Given the description of an element on the screen output the (x, y) to click on. 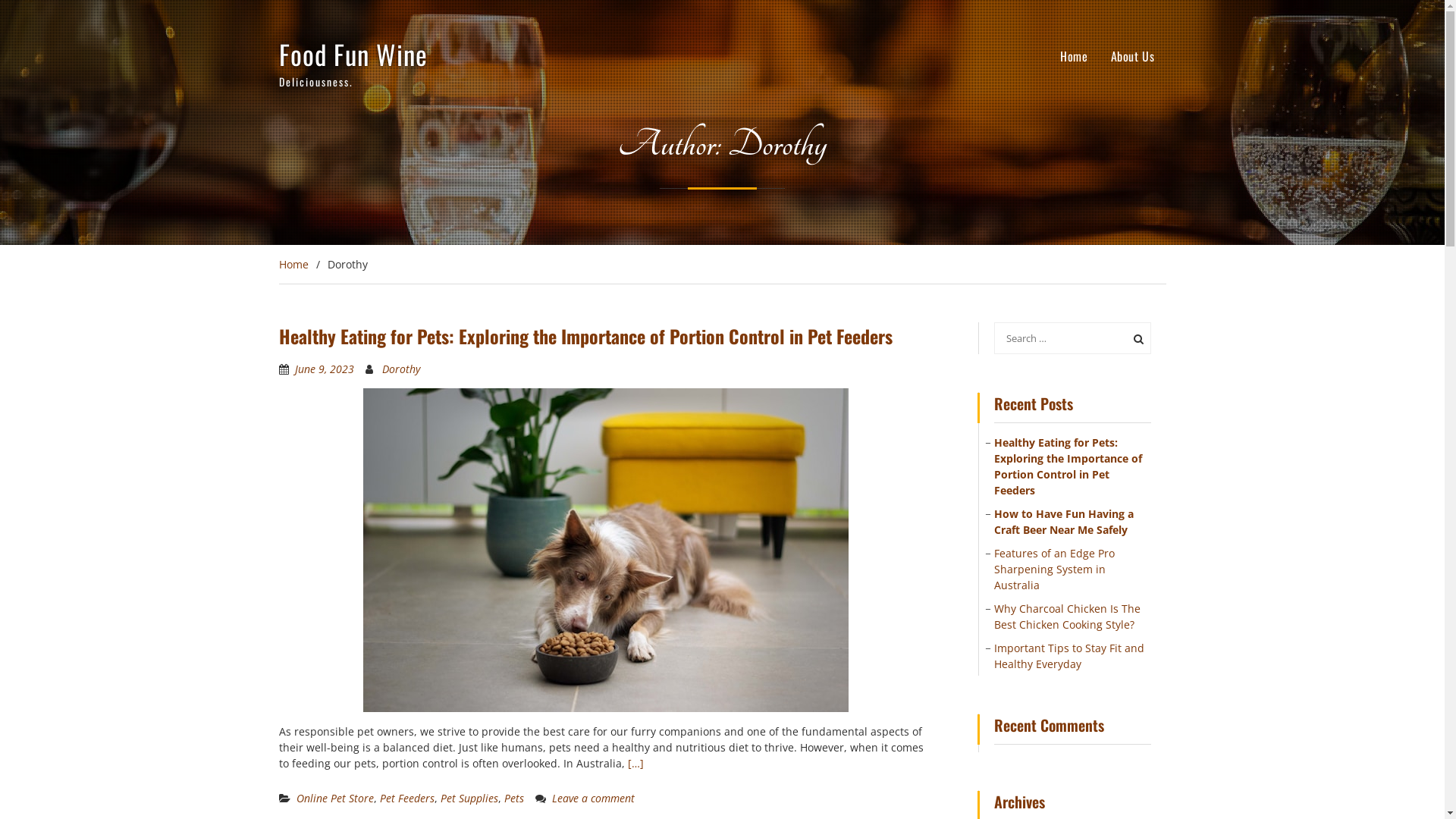
Important Tips to Stay Fit and Healthy Everyday Element type: text (1069, 655)
Pet Feeders Element type: text (406, 797)
Leave a comment Element type: text (593, 797)
Search Element type: text (1135, 337)
Food Fun Wine Element type: text (353, 53)
About Us Element type: text (1132, 55)
How to Have Fun Having a Craft Beer Near Me Safely Element type: text (1063, 521)
Home Element type: text (1073, 55)
Why Charcoal Chicken Is The Best Chicken Cooking Style? Element type: text (1067, 615)
Pet Supplies Element type: text (468, 797)
Pets Element type: text (513, 797)
Online Pet Store Element type: text (334, 797)
June 9, 2023 Element type: text (323, 367)
Home Element type: text (293, 263)
Dorothy Element type: text (401, 367)
